Given the description of an element on the screen output the (x, y) to click on. 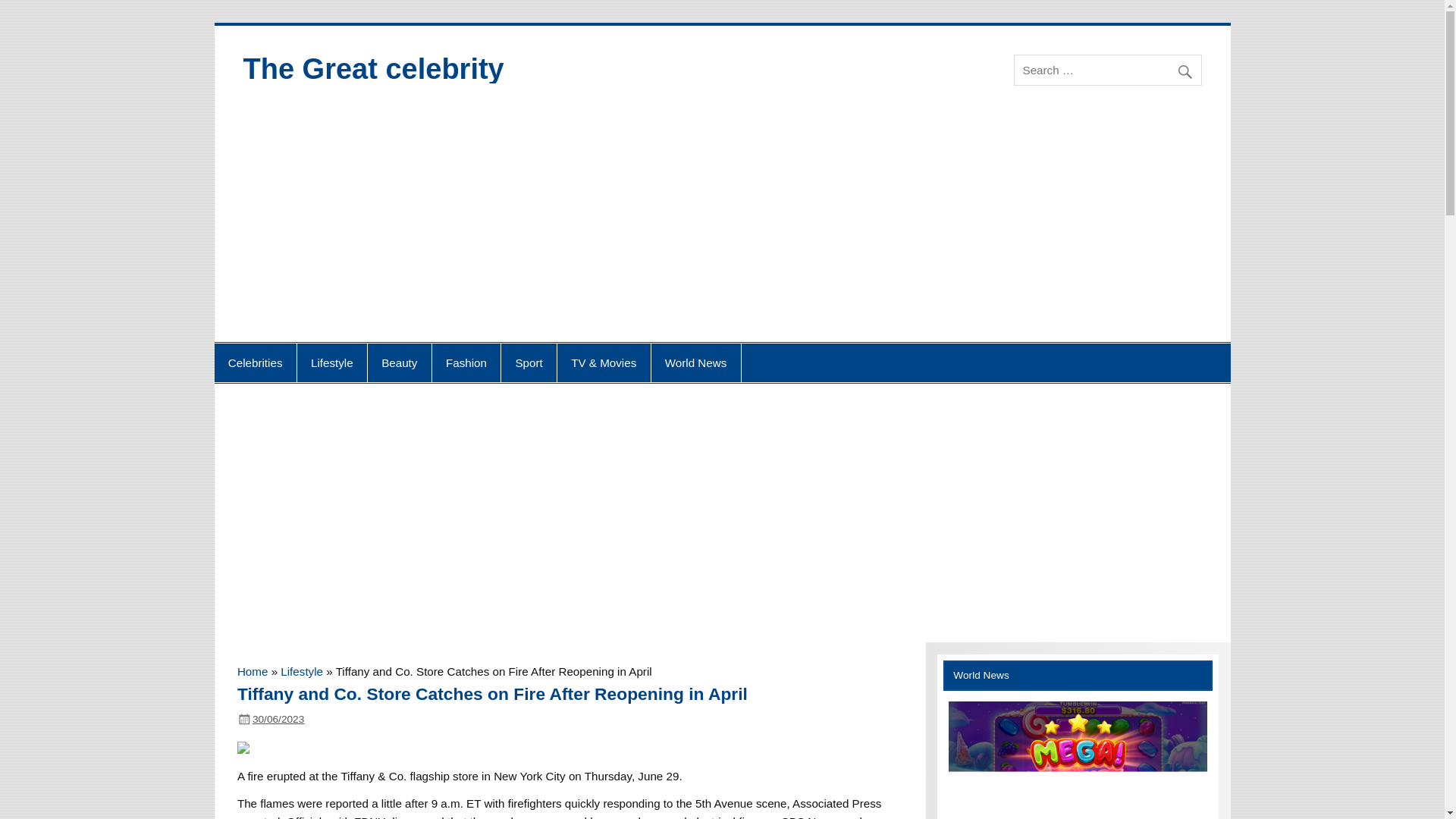
Sport (528, 363)
Beauty (399, 363)
Home (252, 671)
The Great celebrity (373, 69)
The Guide to Winning Big in Sweet Bonanza Online Slot (1078, 760)
Lifestyle (302, 671)
13:22 (277, 718)
Fashion (466, 363)
Celebrities (254, 363)
